Given the description of an element on the screen output the (x, y) to click on. 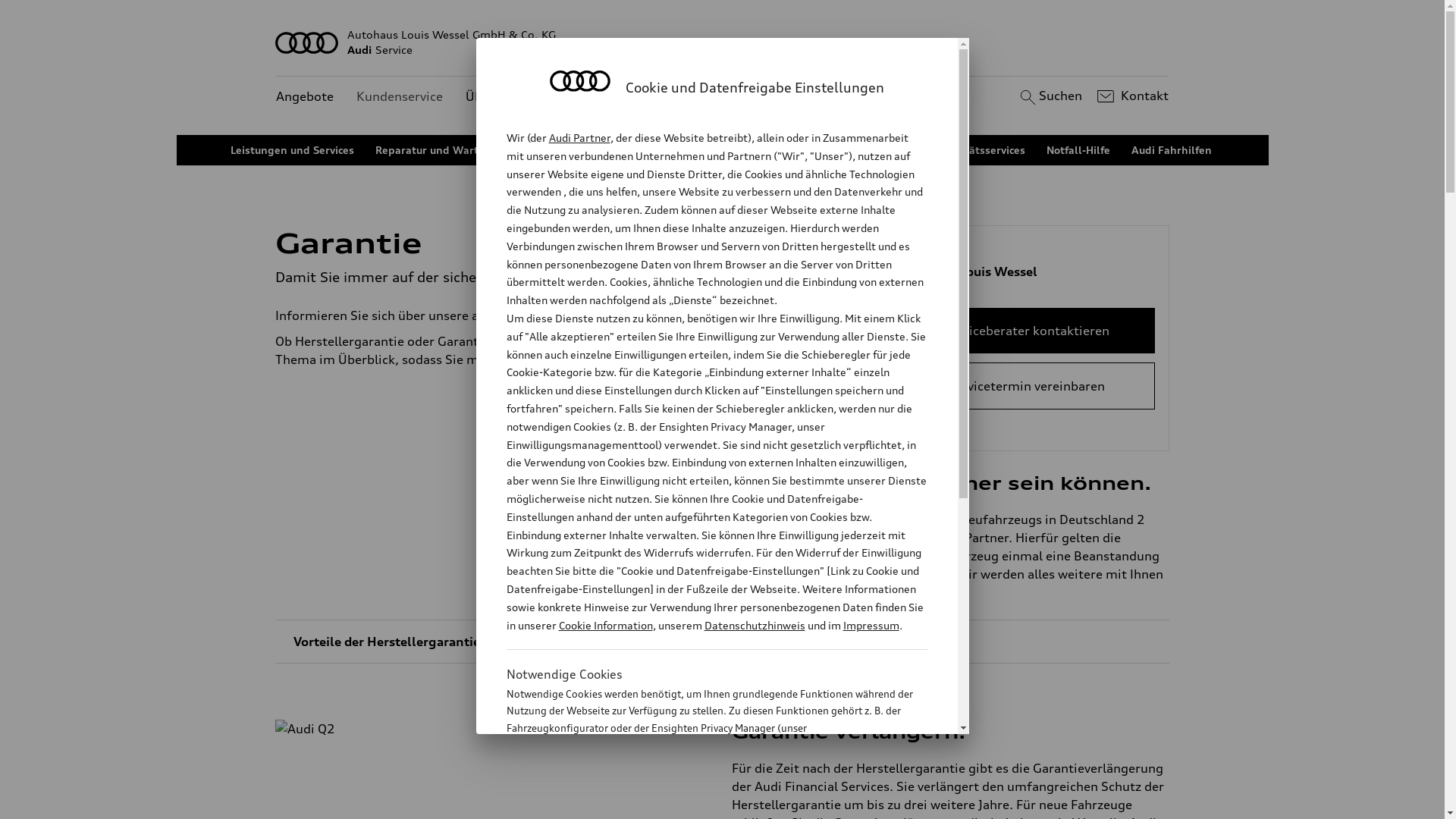
Autohaus Louis Wessel GmbH & Co. KG
AudiService Element type: text (722, 42)
Datenschutzhinweis Element type: text (753, 624)
Angebote Element type: text (304, 96)
Cookie Information Element type: text (700, 802)
Impressum Element type: text (871, 624)
Kontakt Element type: text (1130, 96)
Audi Partner Element type: text (579, 137)
Ihre Ansprechpartner Element type: text (688, 149)
Reparatur und Wartung Element type: text (436, 149)
Kundenservice Element type: text (399, 96)
Cookie Information Element type: text (605, 624)
Audi Fahrhilfen Element type: text (1171, 149)
Notfall-Hilfe Element type: text (1077, 149)
Servicetermin vereinbaren Element type: text (1025, 385)
Garantie Element type: text (889, 149)
Suchen Element type: text (1049, 96)
Leistungen und Services Element type: text (291, 149)
Versicherungen Element type: text (805, 149)
Serviceberater kontaktieren Element type: text (1025, 330)
